Given the description of an element on the screen output the (x, y) to click on. 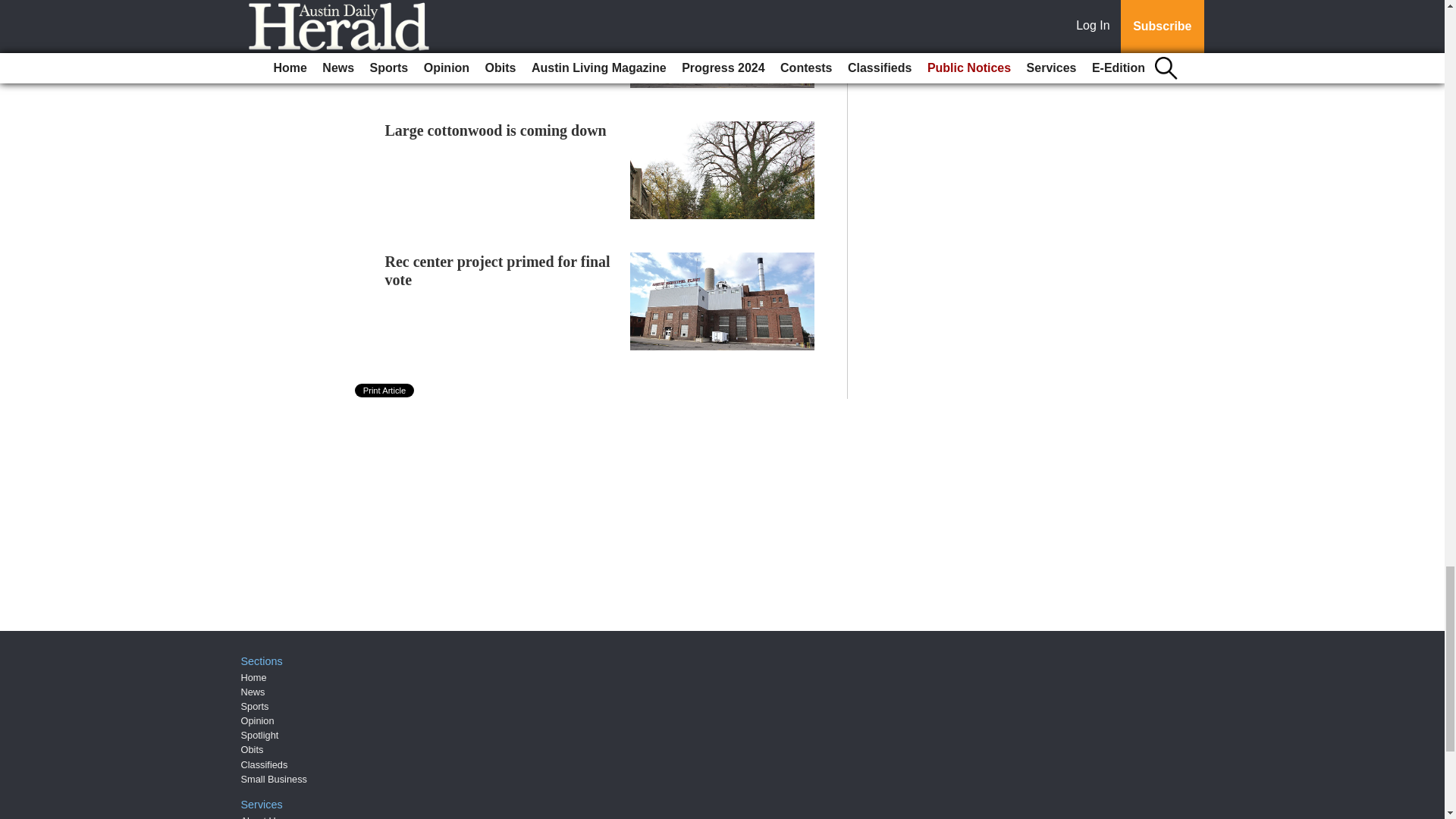
Rec center project primed for final vote (497, 270)
Large cottonwood is coming down (496, 130)
Rec center issue could be decided Monday (492, 12)
